Given the description of an element on the screen output the (x, y) to click on. 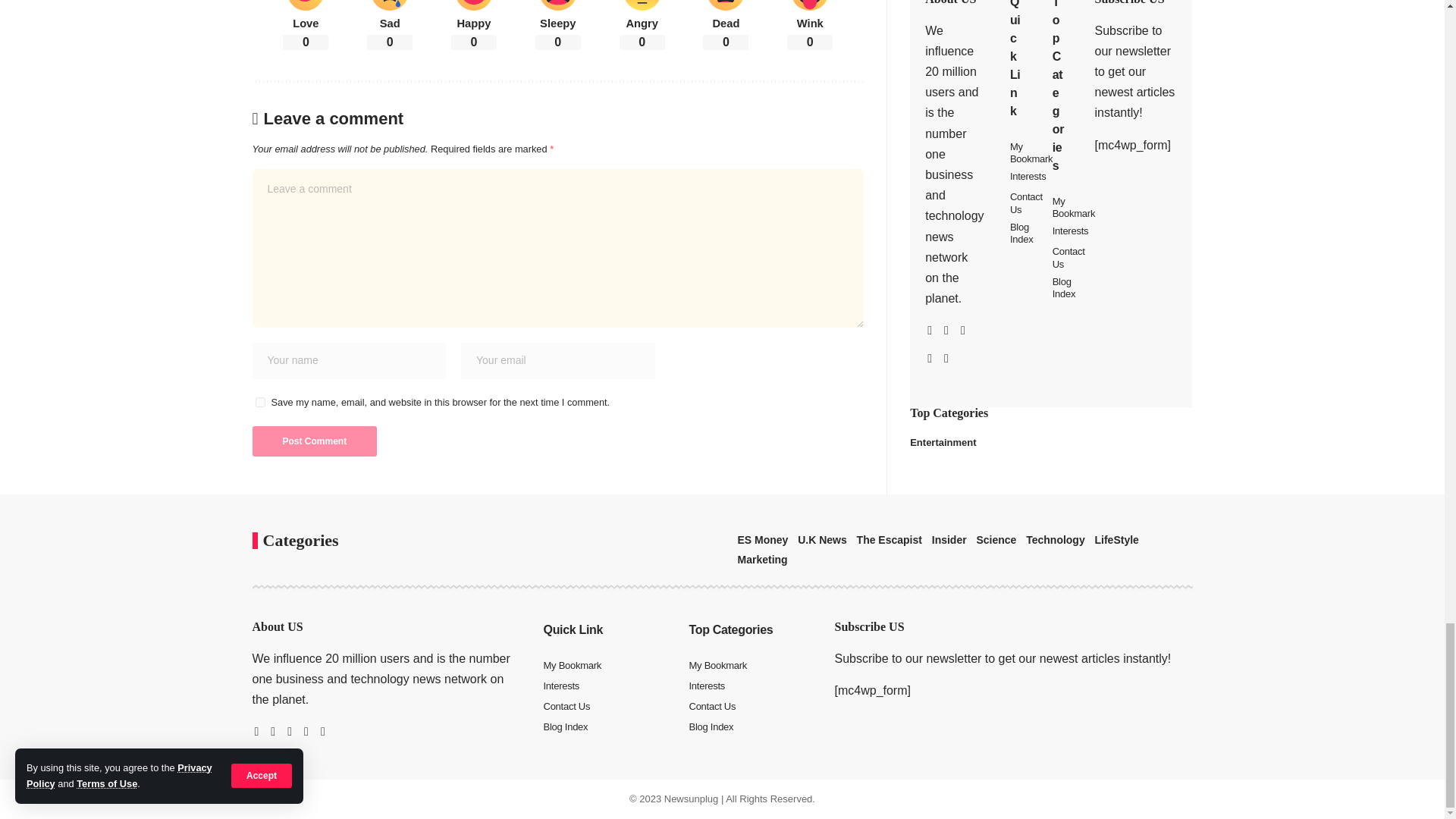
yes (259, 402)
Post Comment (314, 440)
